Given the description of an element on the screen output the (x, y) to click on. 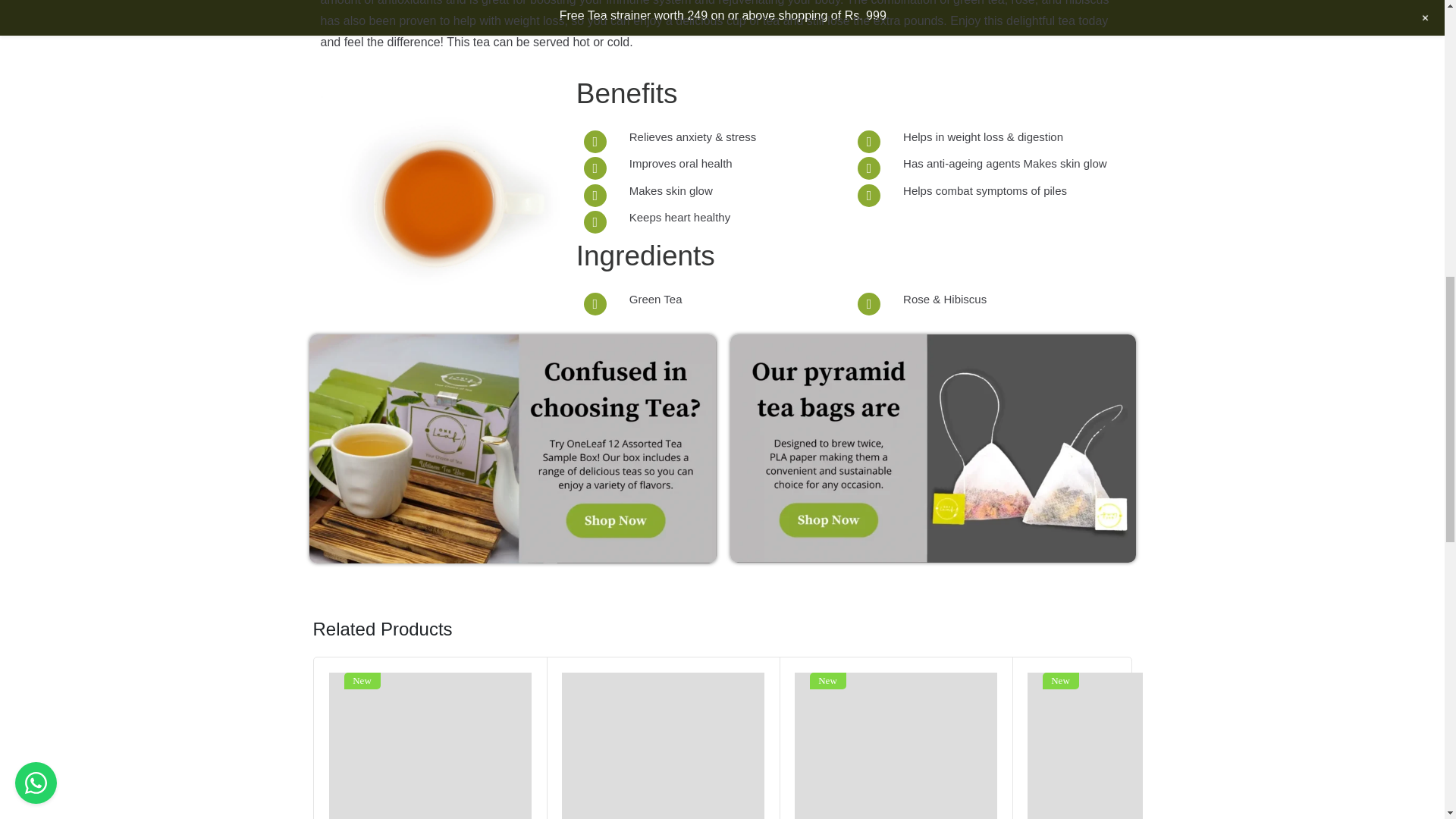
OneLeaf Elaichi Tea (430, 745)
OneLeaf Chamomile Green Tea (1127, 745)
OneLeaf Her Wellness Tea (895, 745)
